Given the description of an element on the screen output the (x, y) to click on. 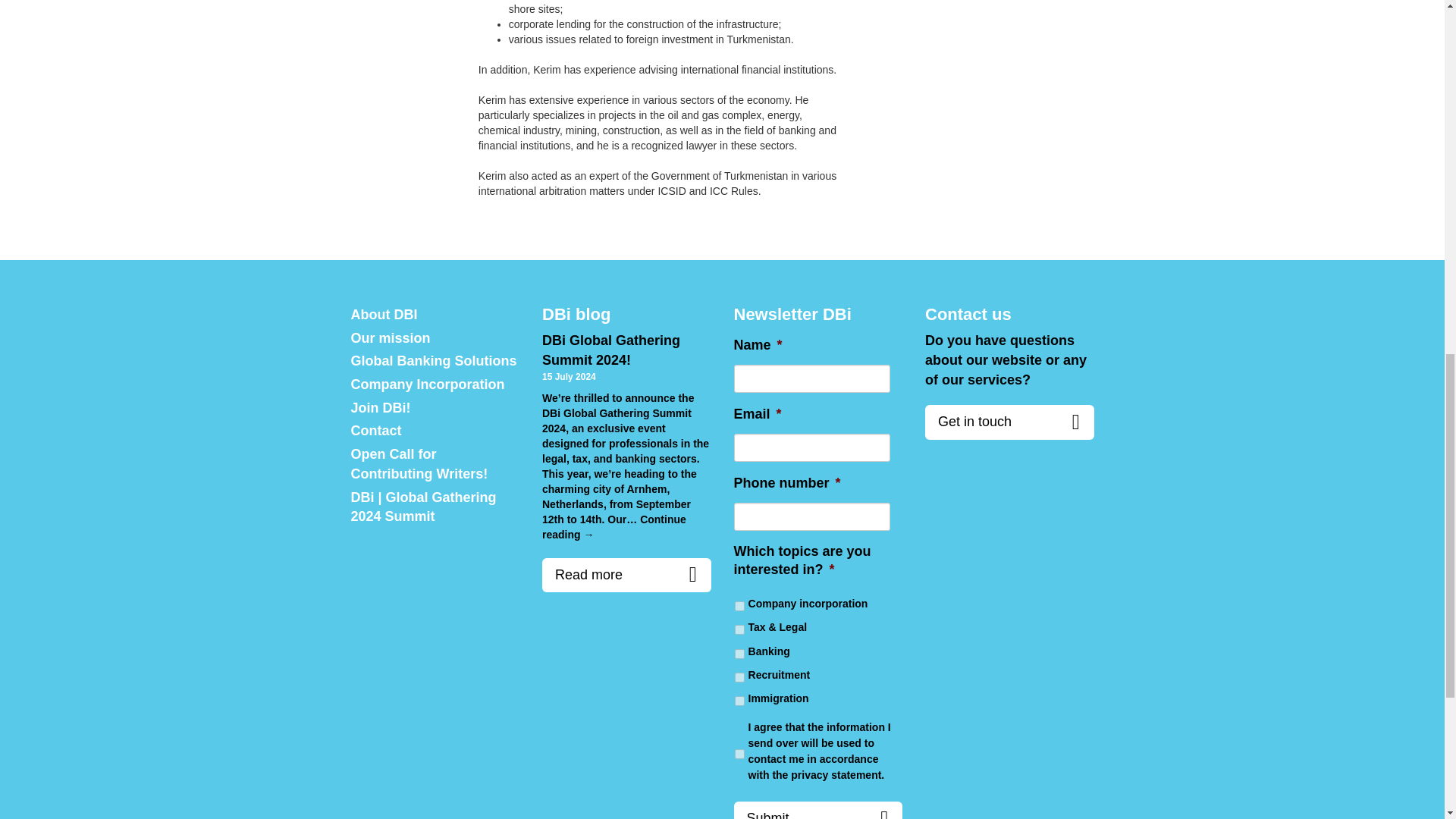
Banking (738, 654)
Company incorporation (738, 605)
Recruitment (738, 677)
Immigration (738, 700)
